Given the description of an element on the screen output the (x, y) to click on. 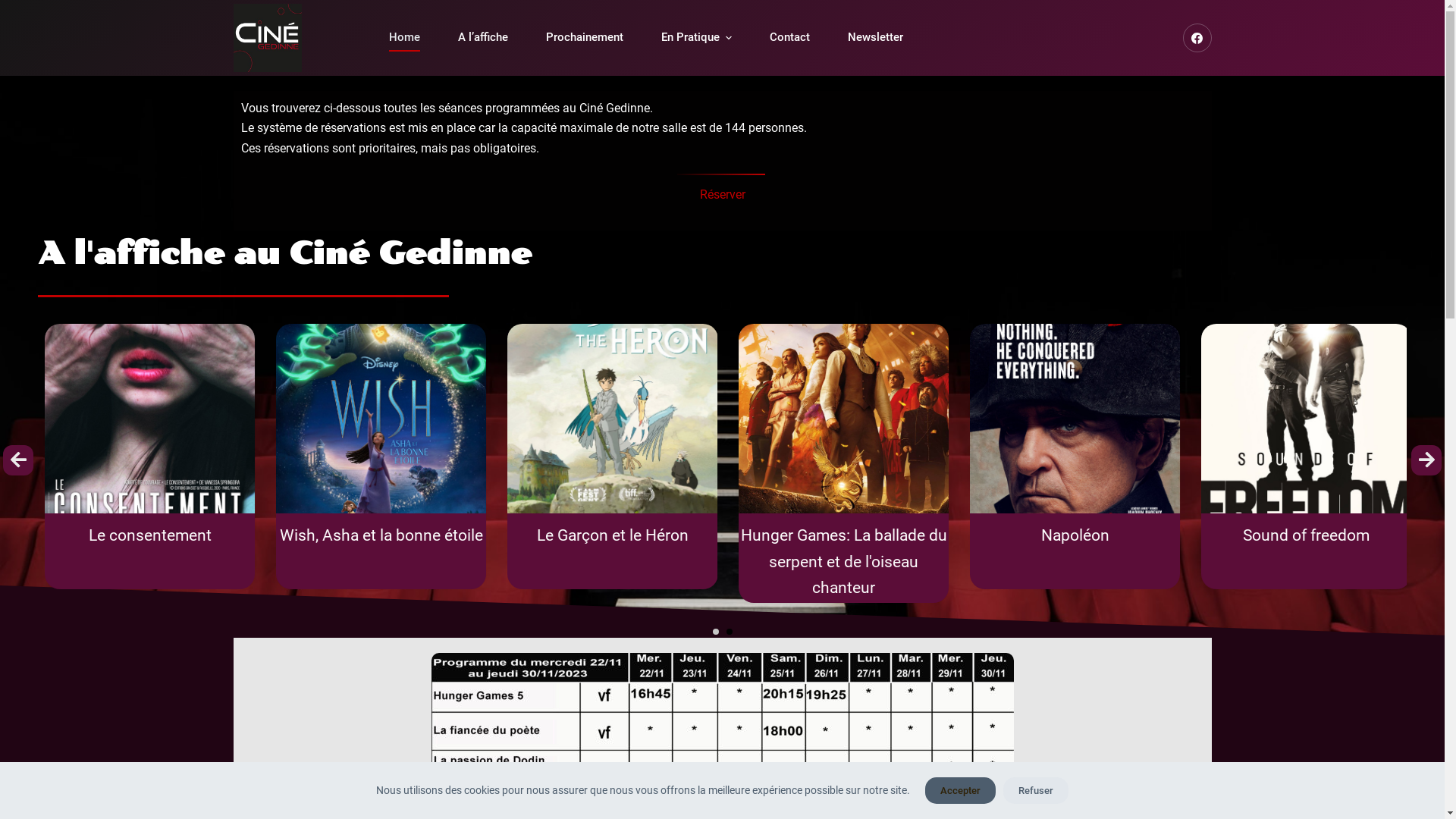
Le consentement Element type: text (605, 531)
Passer au contenu Element type: text (15, 7)
Newsletter Element type: text (874, 37)
next item Element type: text (1426, 460)
Contact Element type: text (789, 37)
La Tresse Element type: text (373, 531)
Hunger Games: La ballade du serpent et de l'oiseau chanteur Element type: text (1298, 557)
next item Element type: hover (1426, 460)
Prochainement Element type: text (583, 37)
previous item Element type: text (18, 460)
previous item Element type: hover (18, 460)
Accepter Element type: text (960, 790)
Home Element type: text (404, 37)
En Pratique Element type: text (695, 37)
Refuser Element type: text (1035, 790)
